Given the description of an element on the screen output the (x, y) to click on. 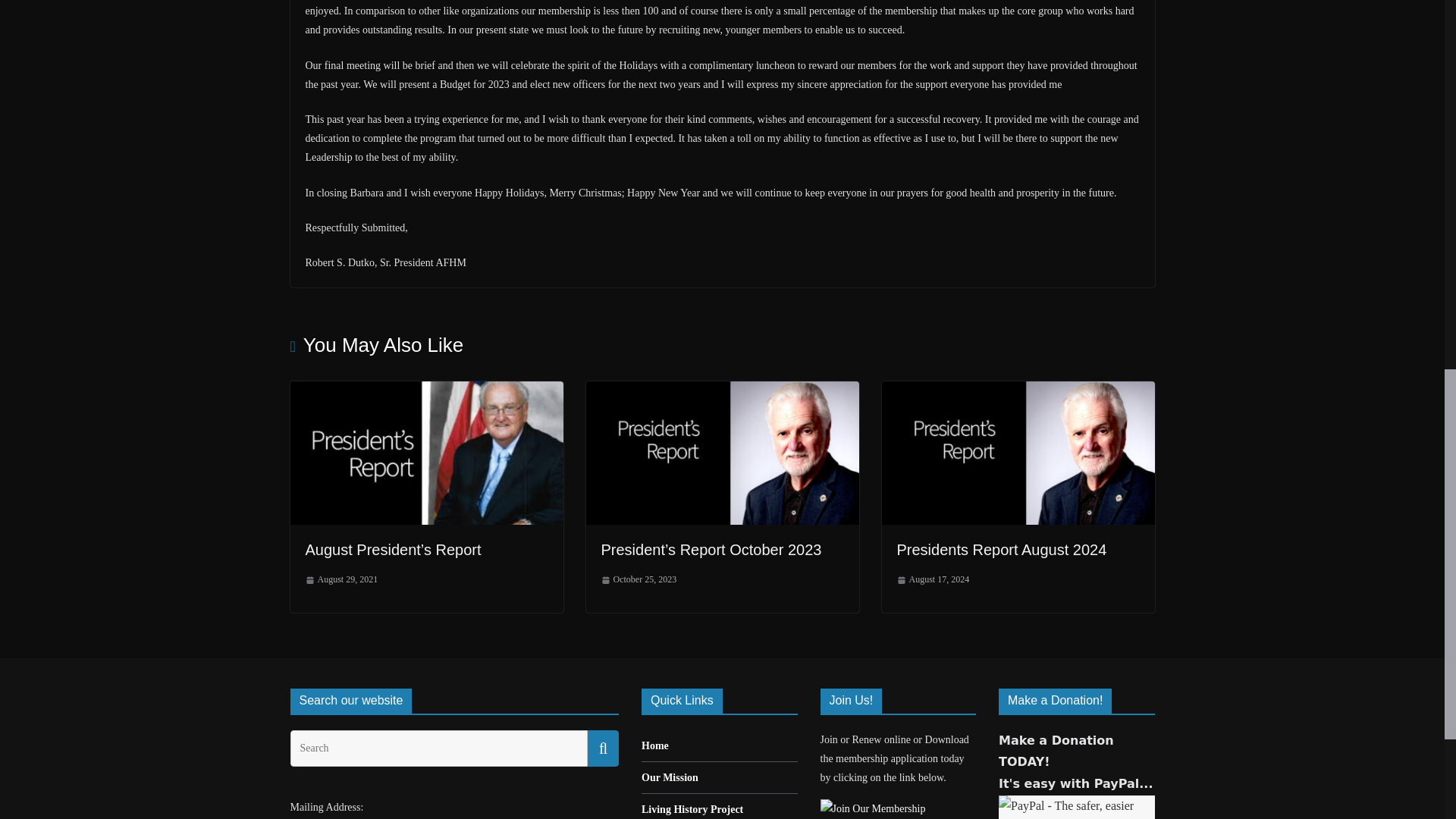
Presidents Report August 2024 (1017, 391)
5:16 pm (340, 579)
Presidents Report August 2024 (1001, 549)
1:08 pm (638, 579)
